Given the description of an element on the screen output the (x, y) to click on. 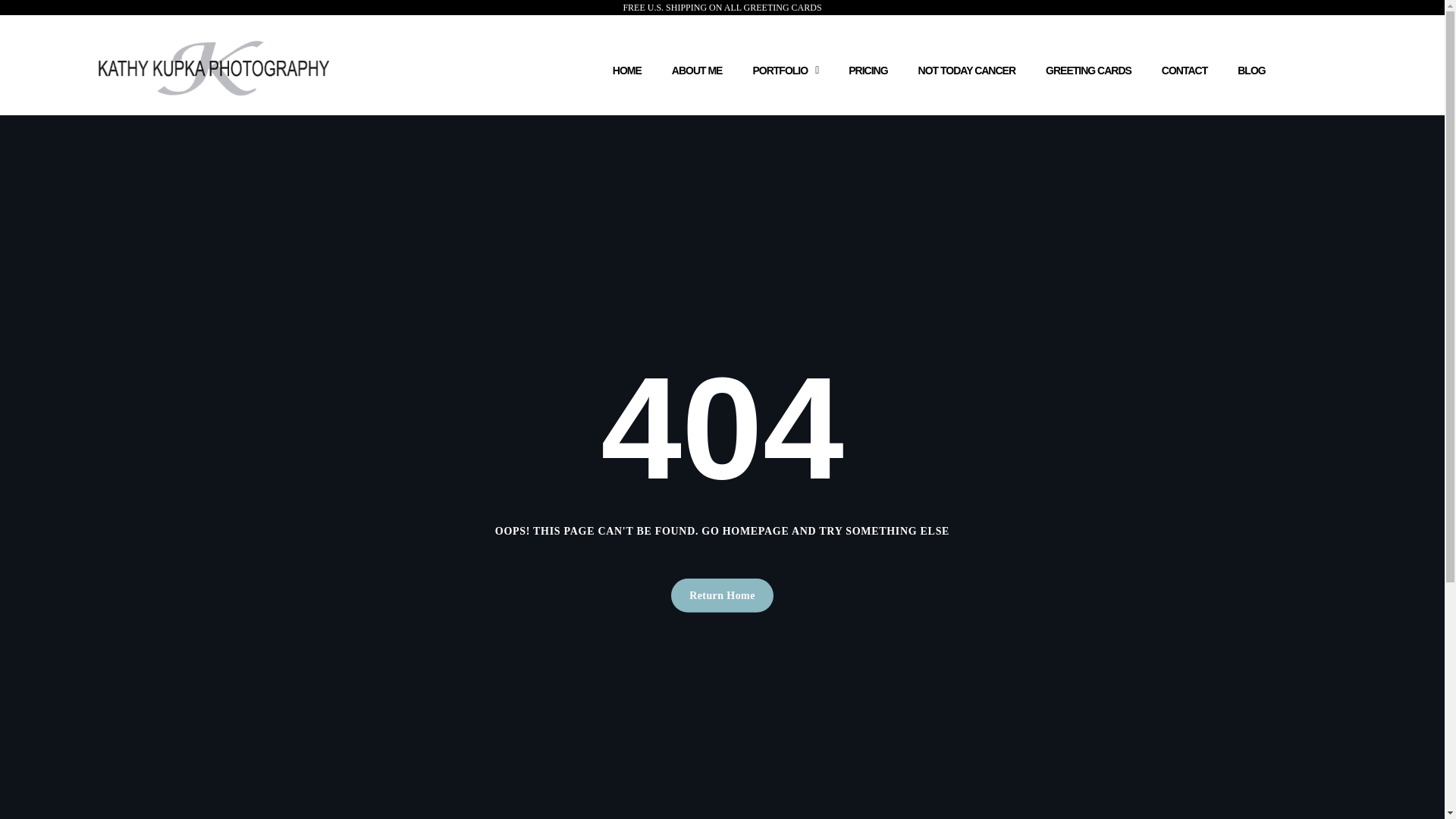
CONTACT (1185, 65)
BLOG (1251, 65)
Return Home (722, 595)
PRICING (867, 65)
ABOUT ME (697, 65)
GREETING CARDS (1088, 65)
NOT TODAY CANCER (966, 65)
PORTFOLIO (784, 65)
HOME (626, 65)
